Given the description of an element on the screen output the (x, y) to click on. 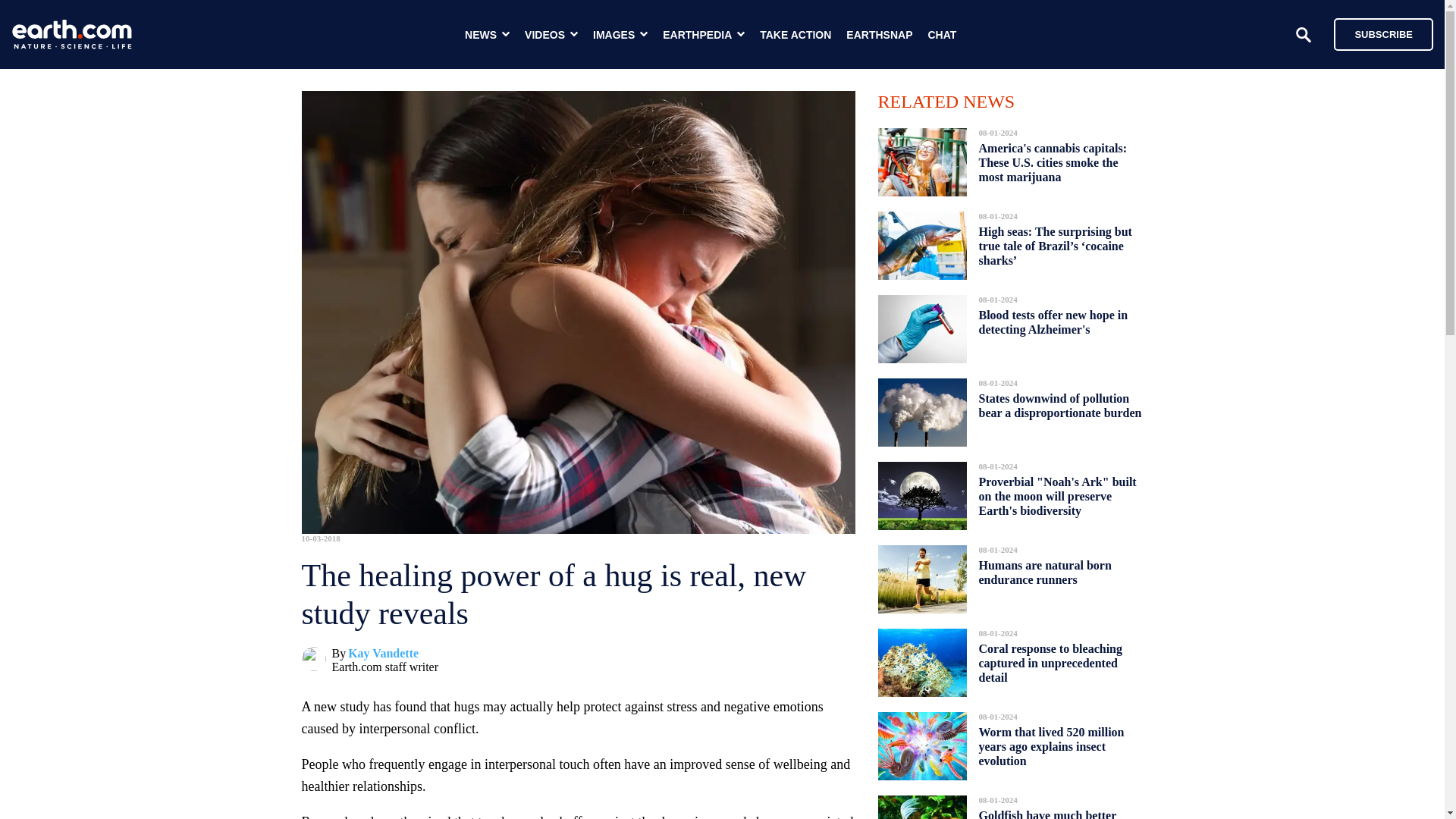
States downwind of pollution bear a disproportionate burden (1059, 405)
EARTHSNAP (878, 34)
CHAT (941, 34)
Humans are natural born endurance runners (1044, 572)
Kay Vandette (383, 653)
Blood tests offer new hope in detecting Alzheimer's (1052, 322)
